Given the description of an element on the screen output the (x, y) to click on. 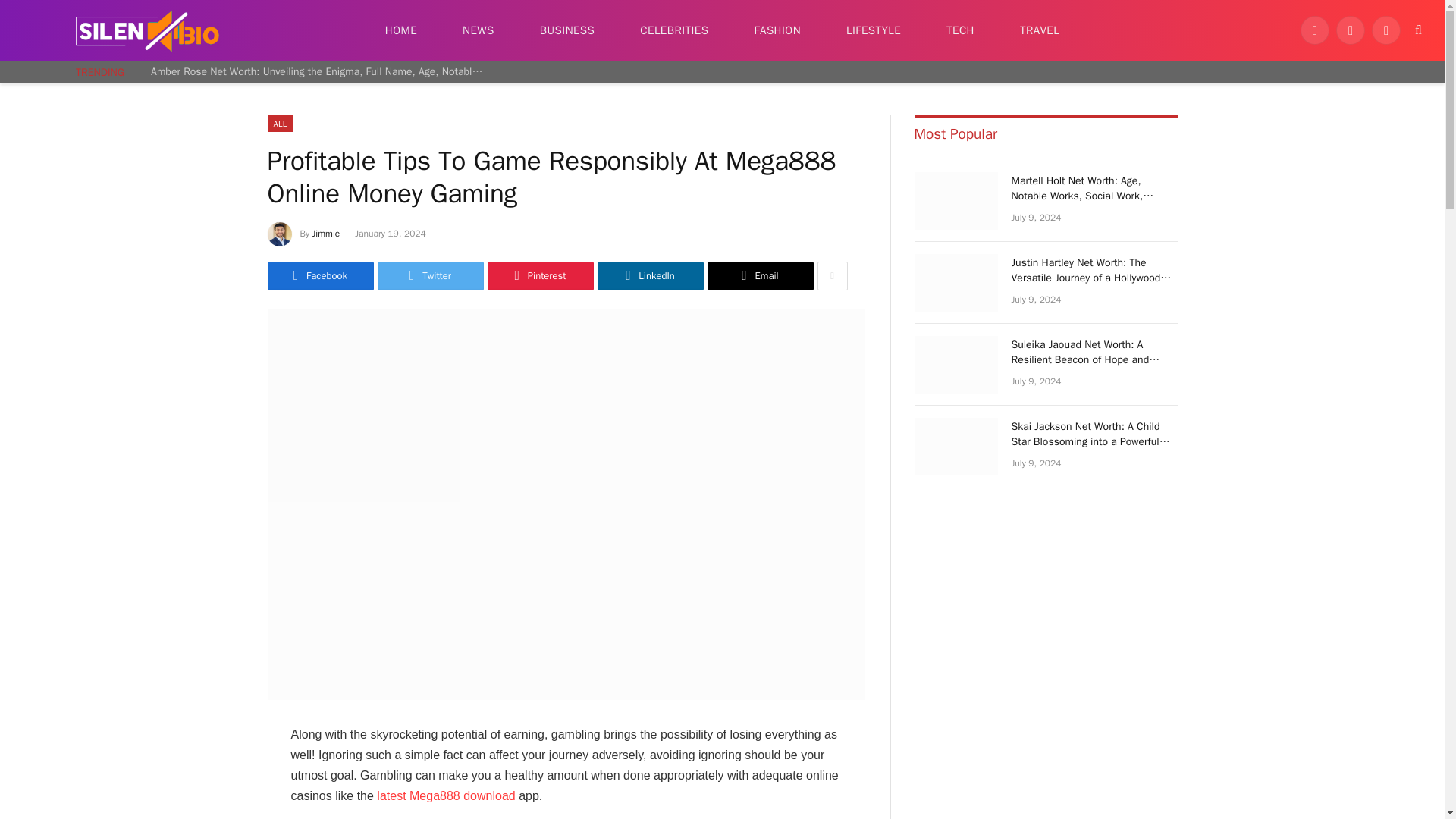
HOME (400, 30)
Email (759, 275)
Share on Twitter (430, 275)
Instagram (1385, 30)
NEWS (477, 30)
Share via Email (759, 275)
Pinterest (539, 275)
Facebook (1314, 30)
SilentBio (146, 30)
Jimmie (326, 233)
Share on LinkedIn (649, 275)
Twitter (1350, 30)
FASHION (777, 30)
